Given the description of an element on the screen output the (x, y) to click on. 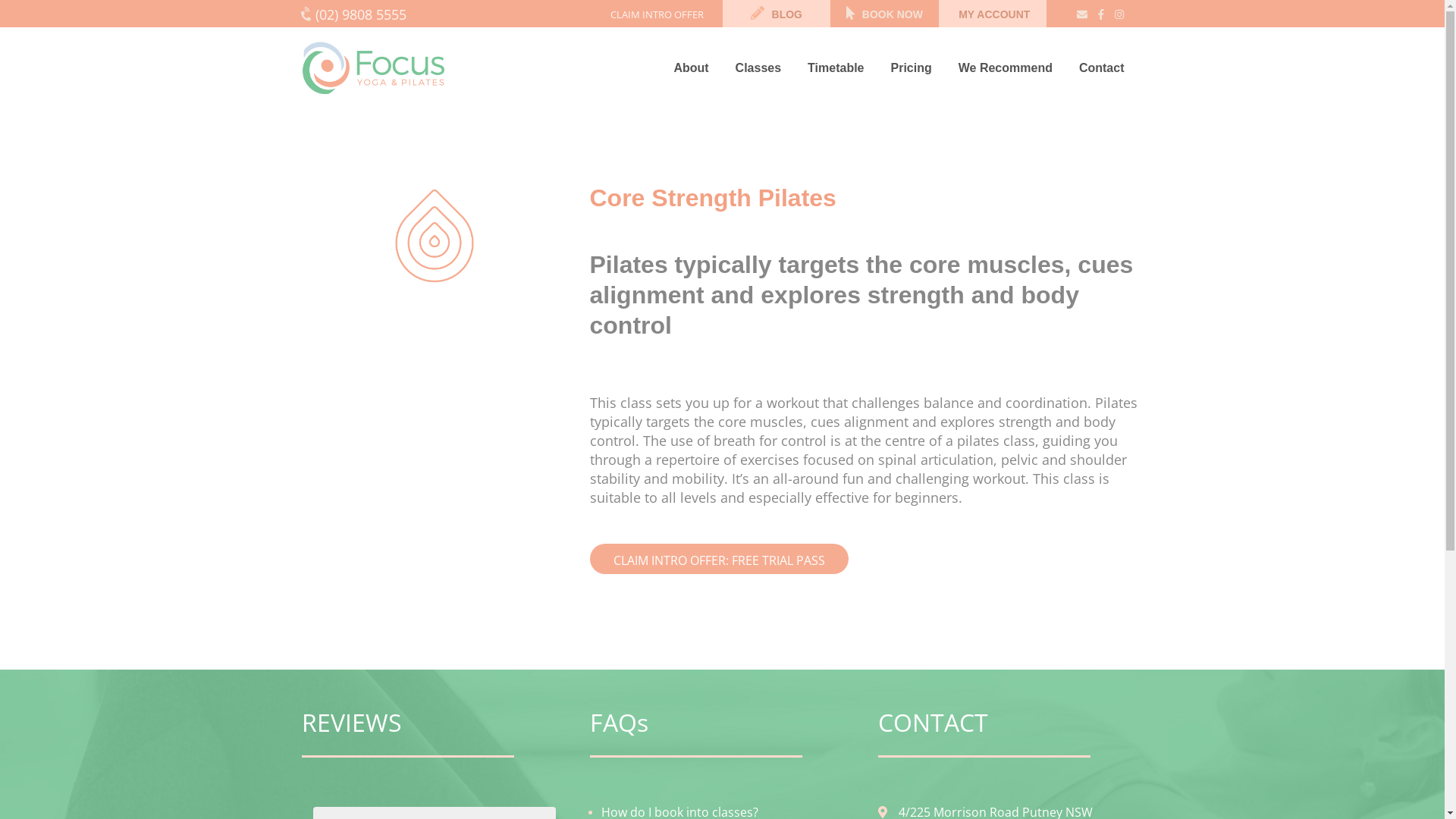
We Recommend Element type: text (1010, 68)
Skip to content Element type: text (0, 0)
CLAIM INTRO OFFER Element type: text (655, 14)
MY ACCOUNT Element type: text (992, 13)
Pricing Element type: text (916, 68)
Timetable Element type: text (841, 68)
(02) 9808 5555 Element type: text (398, 14)
Classes Element type: text (764, 68)
BOOK NOW Element type: text (884, 13)
Contact Element type: text (1107, 68)
About Element type: text (696, 68)
CLAIM INTRO OFFER: FREE TRIAL PASS Element type: text (718, 558)
BLOG Element type: text (775, 13)
